Given the description of an element on the screen output the (x, y) to click on. 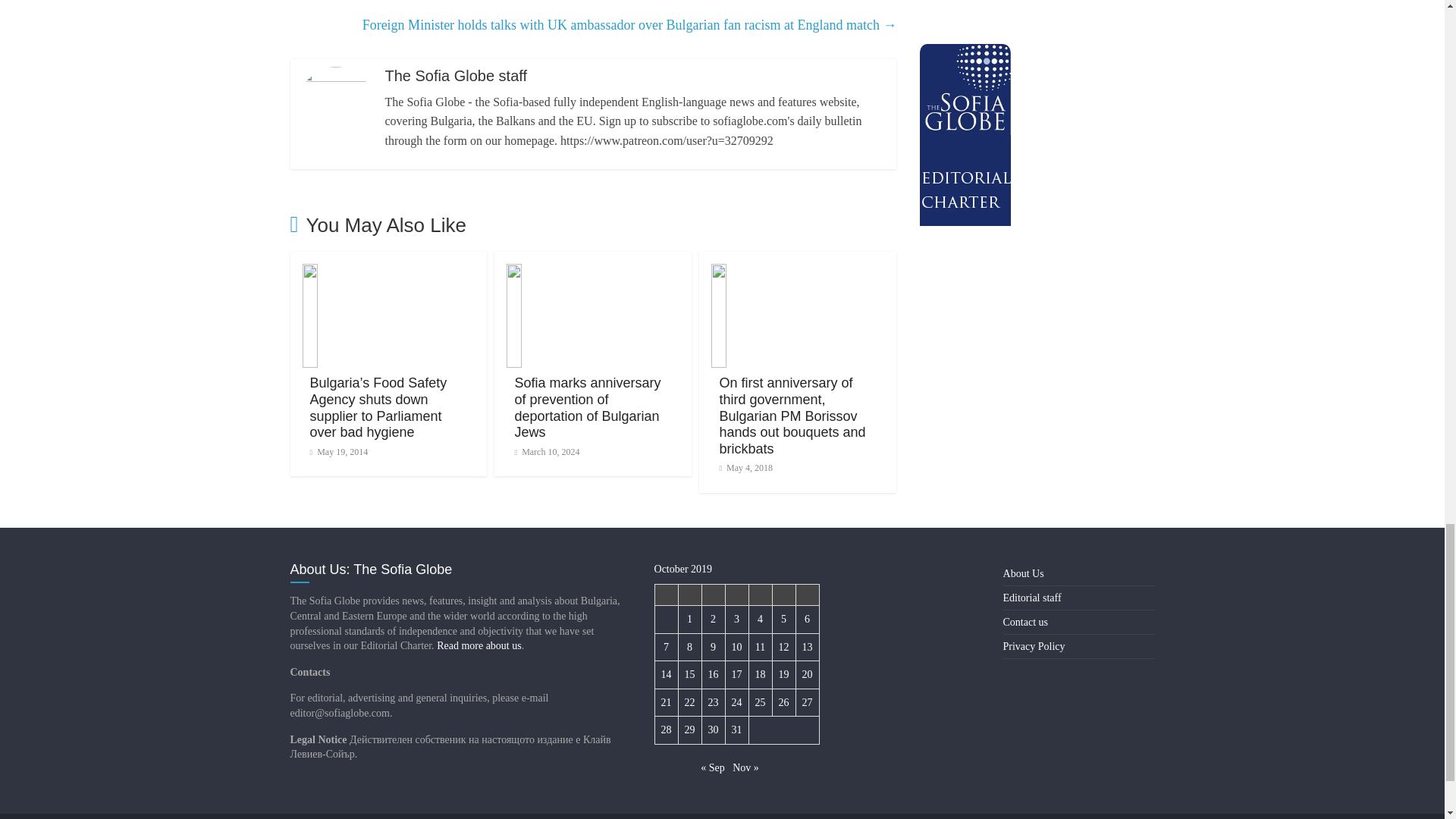
7:06 PM (546, 451)
May 19, 2014 (338, 451)
1:15 PM (338, 451)
May 4, 2018 (746, 467)
March 10, 2024 (546, 451)
